Given the description of an element on the screen output the (x, y) to click on. 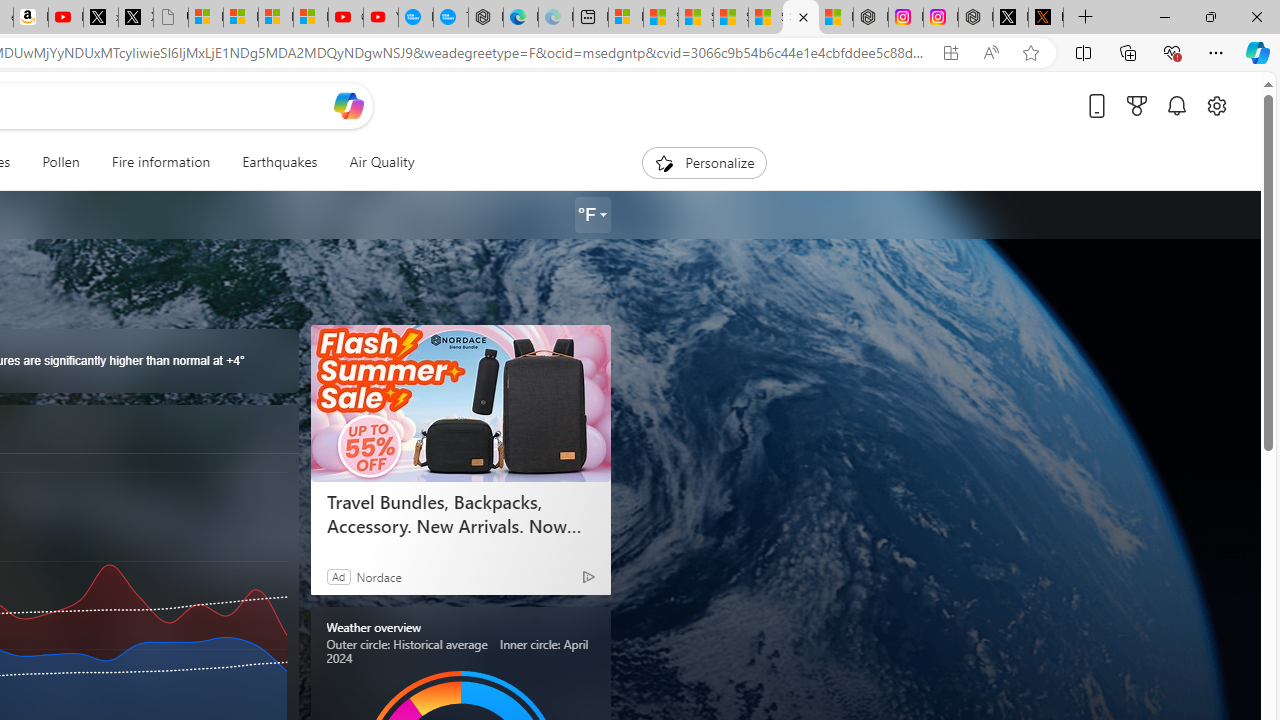
Gloom - YouTube (346, 17)
help.x.com | 524: A timeout occurred (1046, 17)
Personalize (703, 162)
Pollen (60, 162)
Pollen (60, 162)
